Given the description of an element on the screen output the (x, y) to click on. 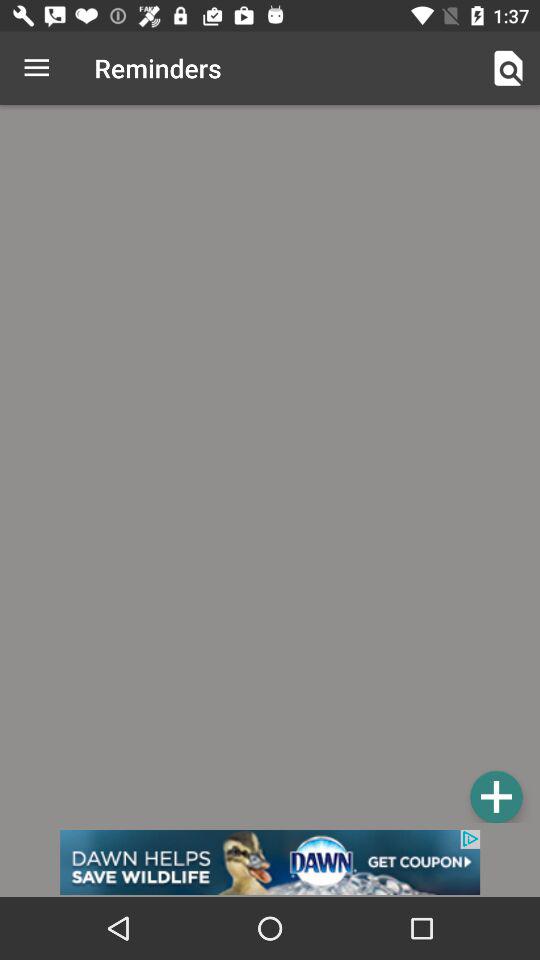
go to the advertising website (270, 861)
